Given the description of an element on the screen output the (x, y) to click on. 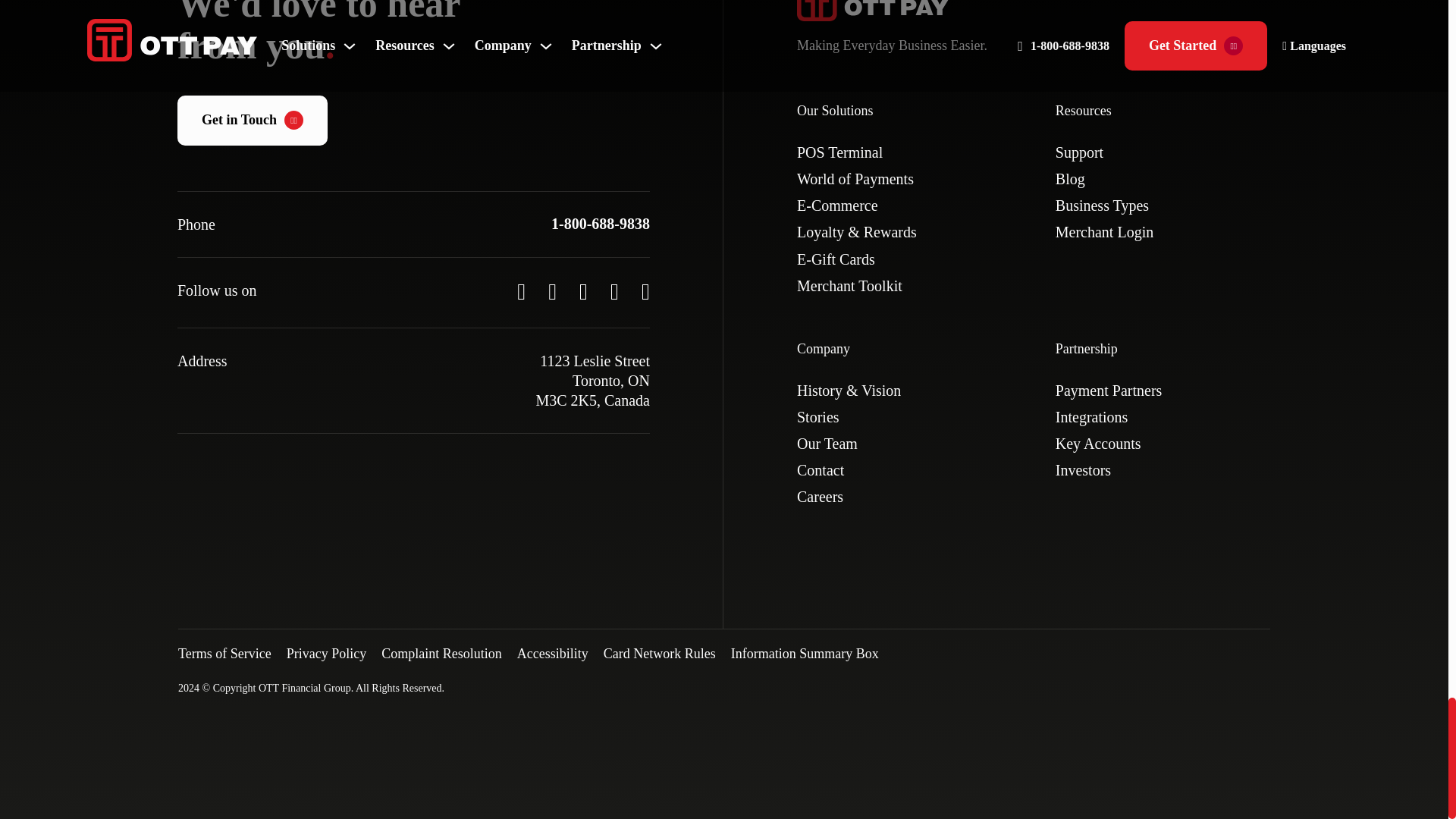
Merchant Login (1104, 231)
Instagram (614, 292)
LinkedIn (645, 292)
Youtube (552, 292)
Twitter (520, 292)
Facebook (583, 292)
